Given the description of an element on the screen output the (x, y) to click on. 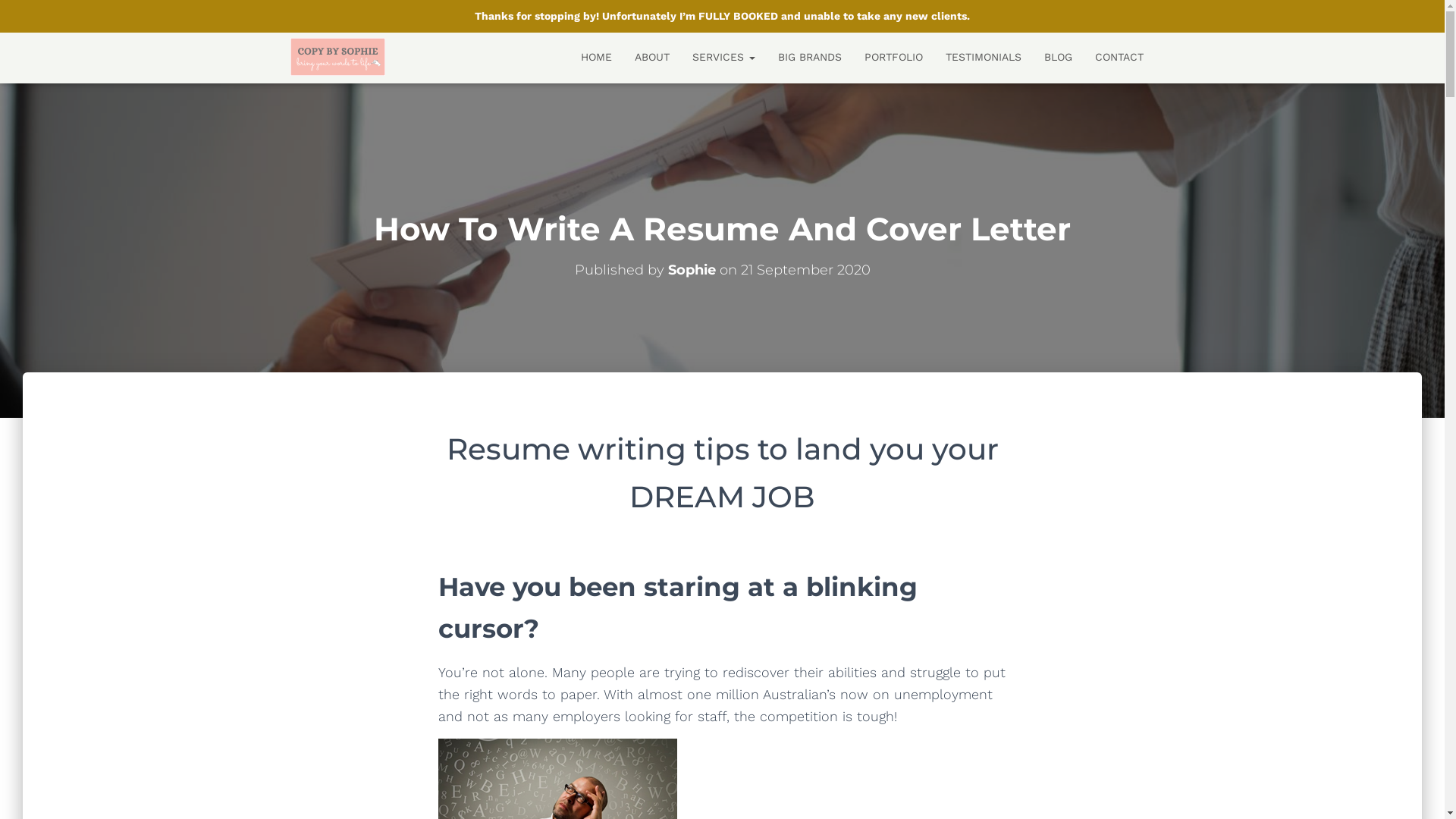
Facebook Element type: text (293, 49)
BIG BRANDS Element type: text (808, 56)
Twitter Element type: text (335, 49)
PORTFOLIO Element type: text (892, 56)
Instagram Element type: text (356, 49)
TESTIMONIALS Element type: text (983, 56)
CONTACT Element type: text (1118, 56)
SERVICES Element type: text (723, 56)
ABOUT Element type: text (651, 56)
Linked In Element type: text (312, 49)
Email Me Element type: text (401, 49)
BLOG Element type: text (1057, 56)
Sophie Element type: text (691, 268)
HOME Element type: text (595, 56)
